Given the description of an element on the screen output the (x, y) to click on. 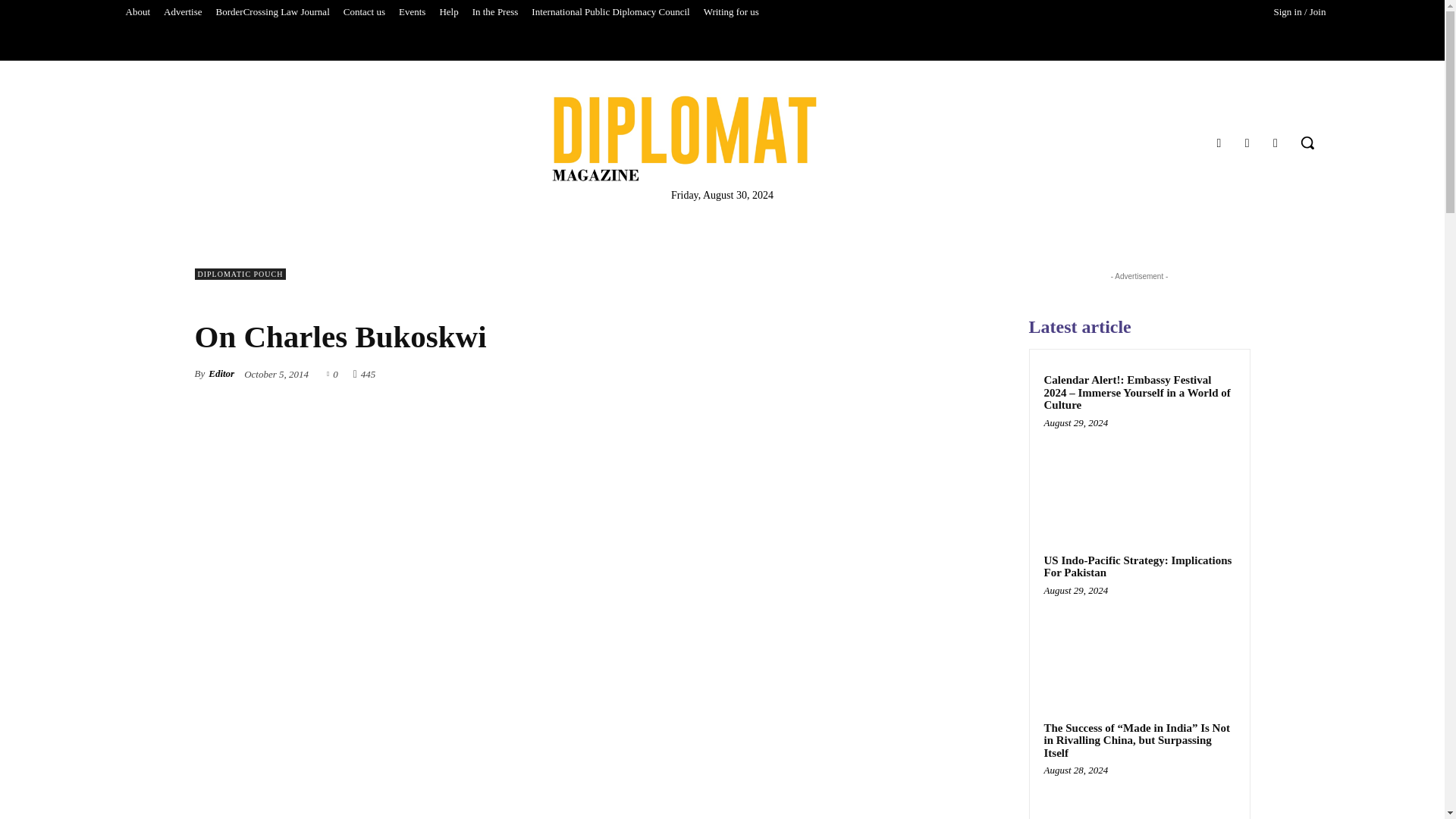
About (137, 12)
Advertise (183, 12)
In the Press (495, 12)
Help (448, 12)
International Public Diplomacy Council (609, 12)
Contact us (363, 12)
Instagram (1246, 142)
BorderCrossing Law Journal (272, 12)
Events (411, 12)
Diplomat Magazine (683, 138)
